Given the description of an element on the screen output the (x, y) to click on. 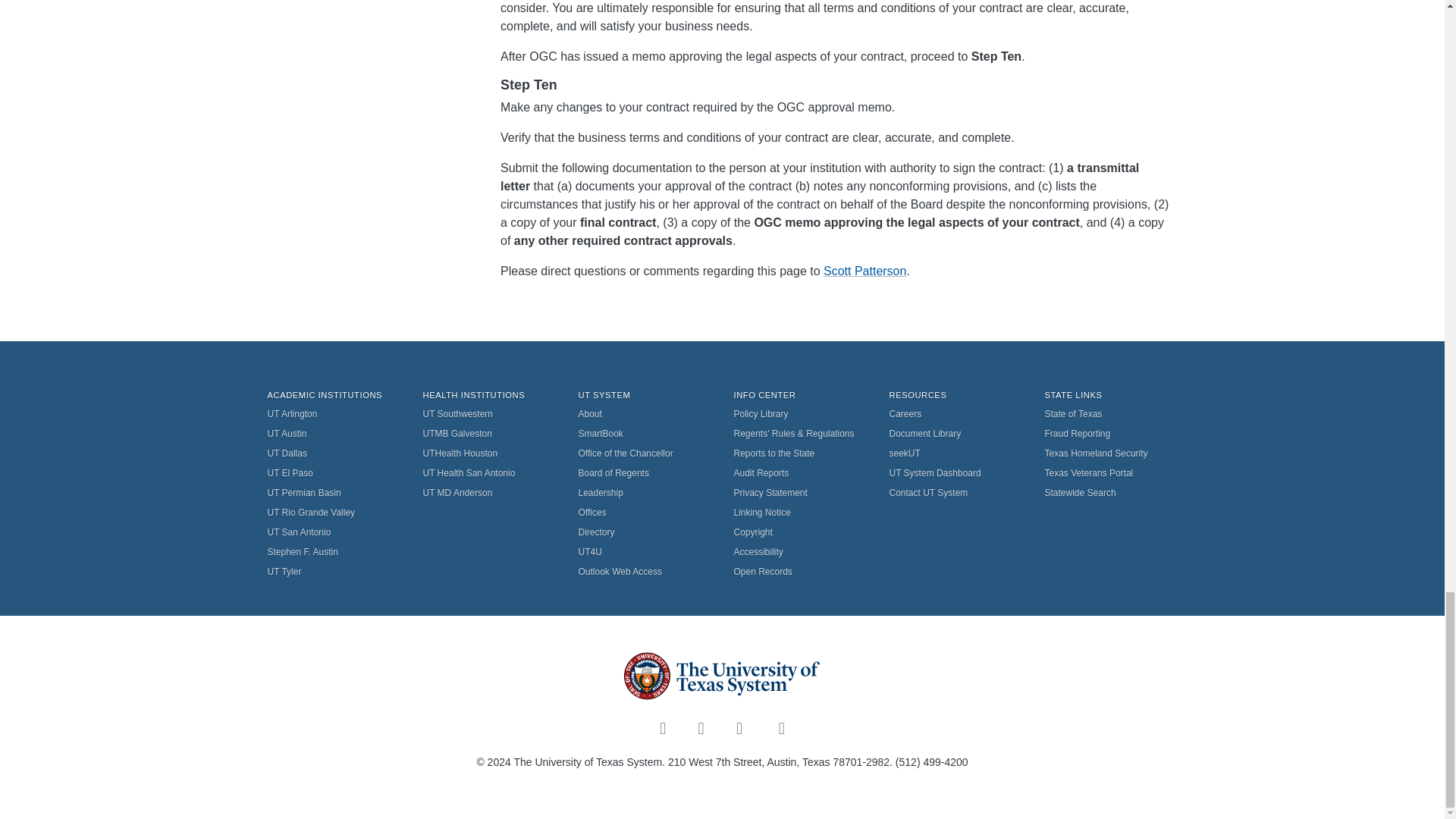
Email (864, 270)
Scott Patterson (864, 270)
